Given the description of an element on the screen output the (x, y) to click on. 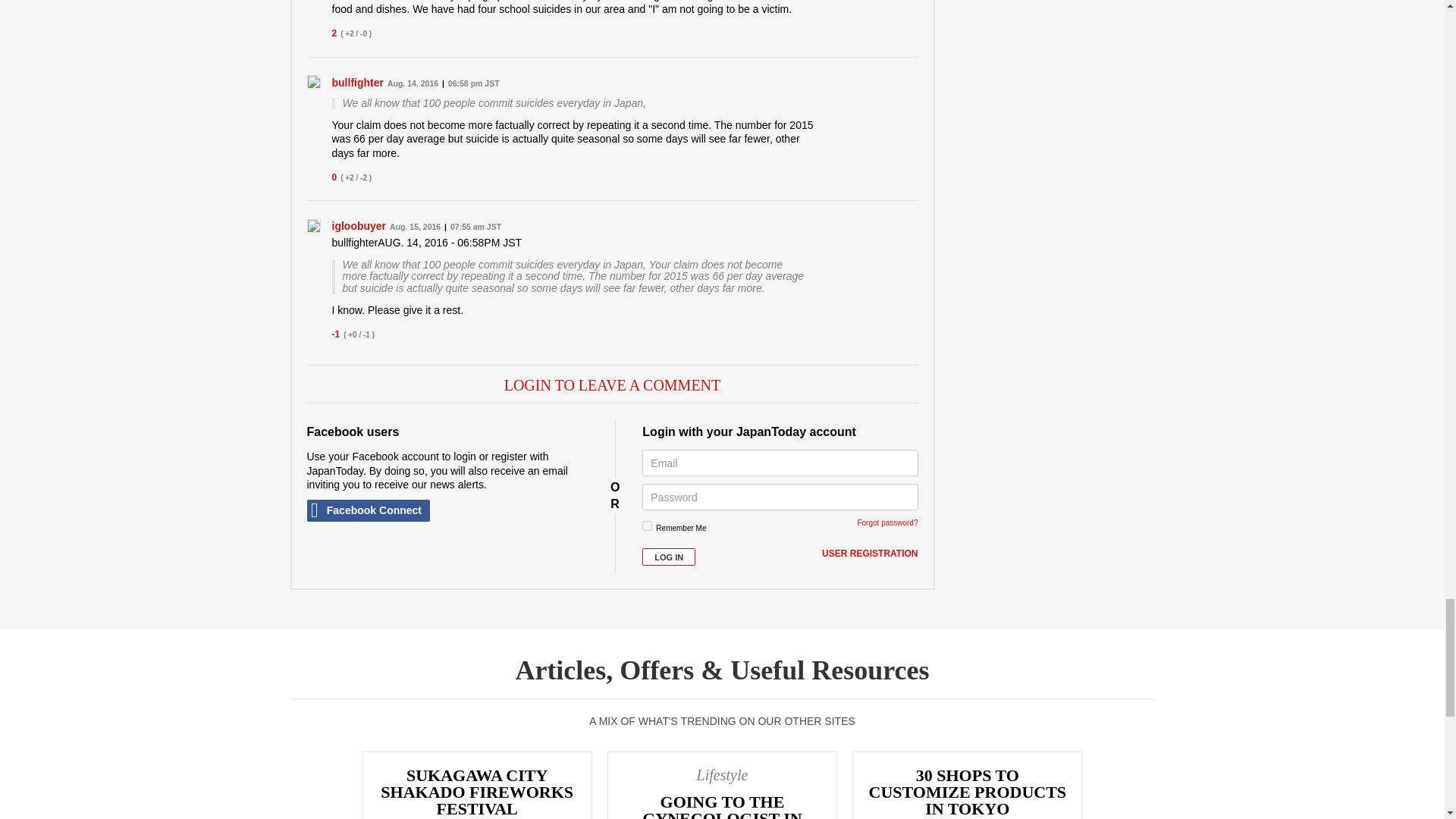
User registration (869, 553)
1 (647, 525)
Sukagawa City Shakado Fireworks Festival (476, 785)
Log In (668, 556)
Connect with Facebook (367, 510)
Forgot password? (887, 522)
